Given the description of an element on the screen output the (x, y) to click on. 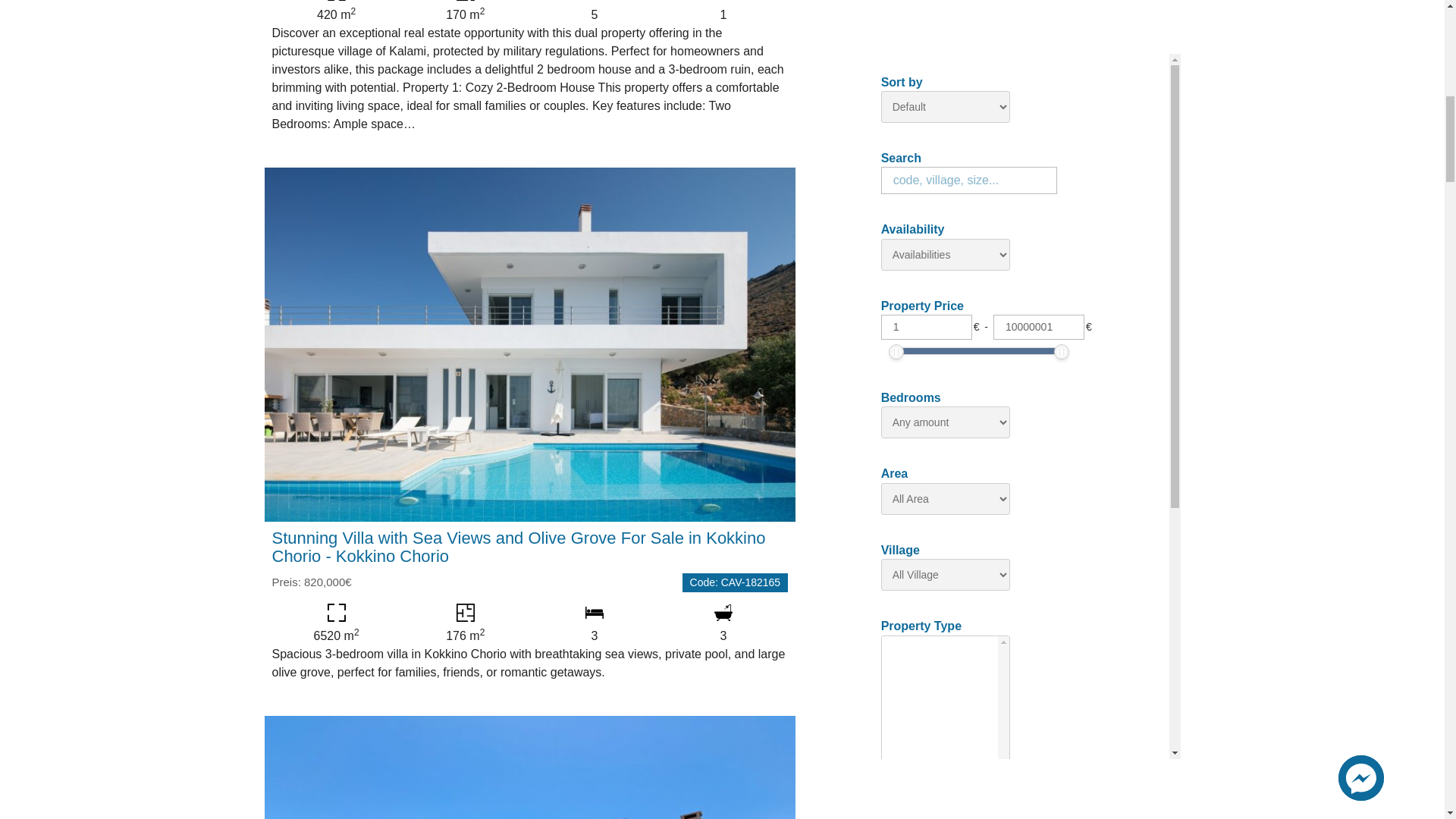
50000 (1007, 430)
0 (918, 430)
